Given the description of an element on the screen output the (x, y) to click on. 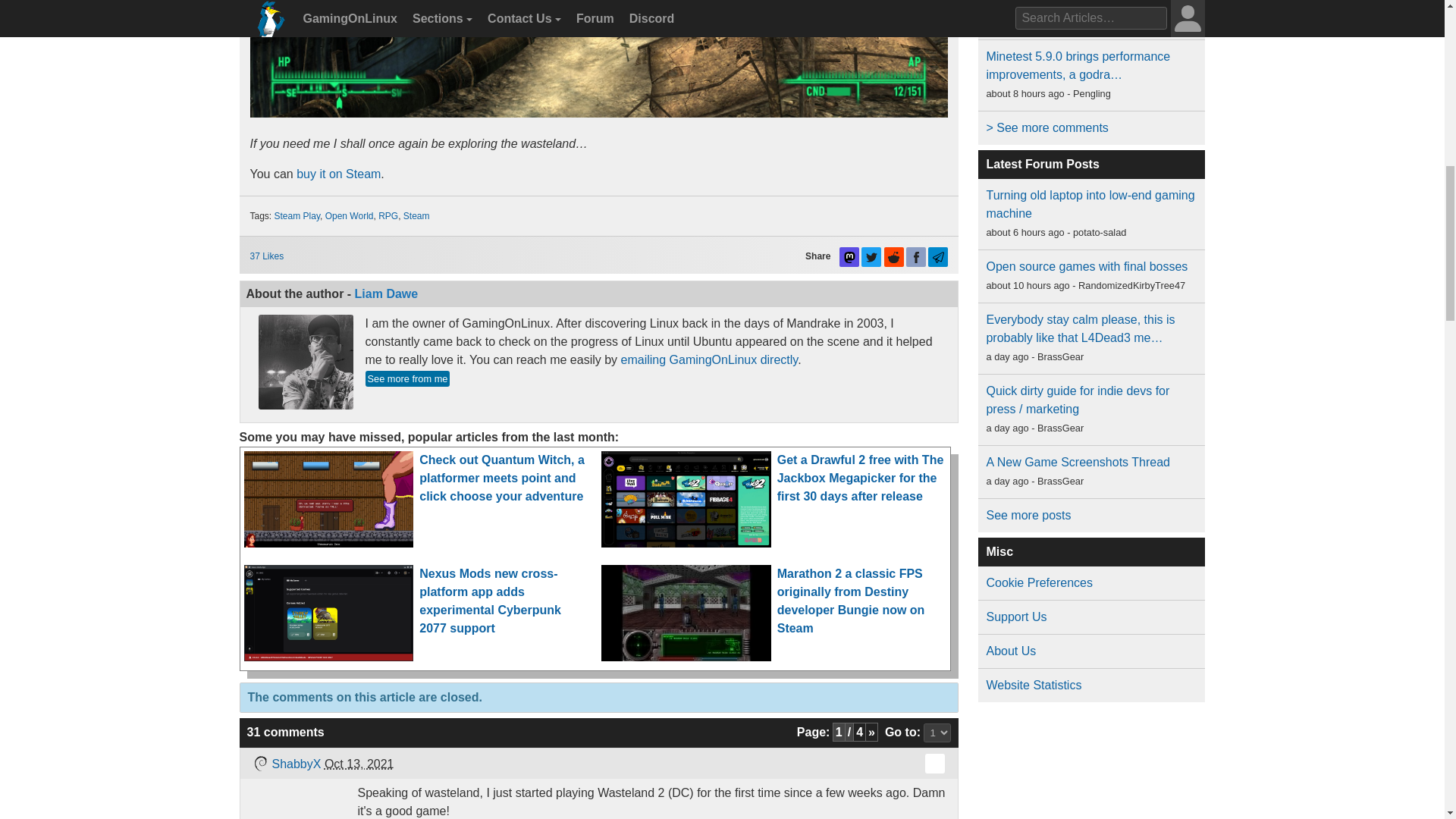
Share to Mastodon (849, 256)
Link to this comment (934, 763)
Debian (259, 763)
